Given the description of an element on the screen output the (x, y) to click on. 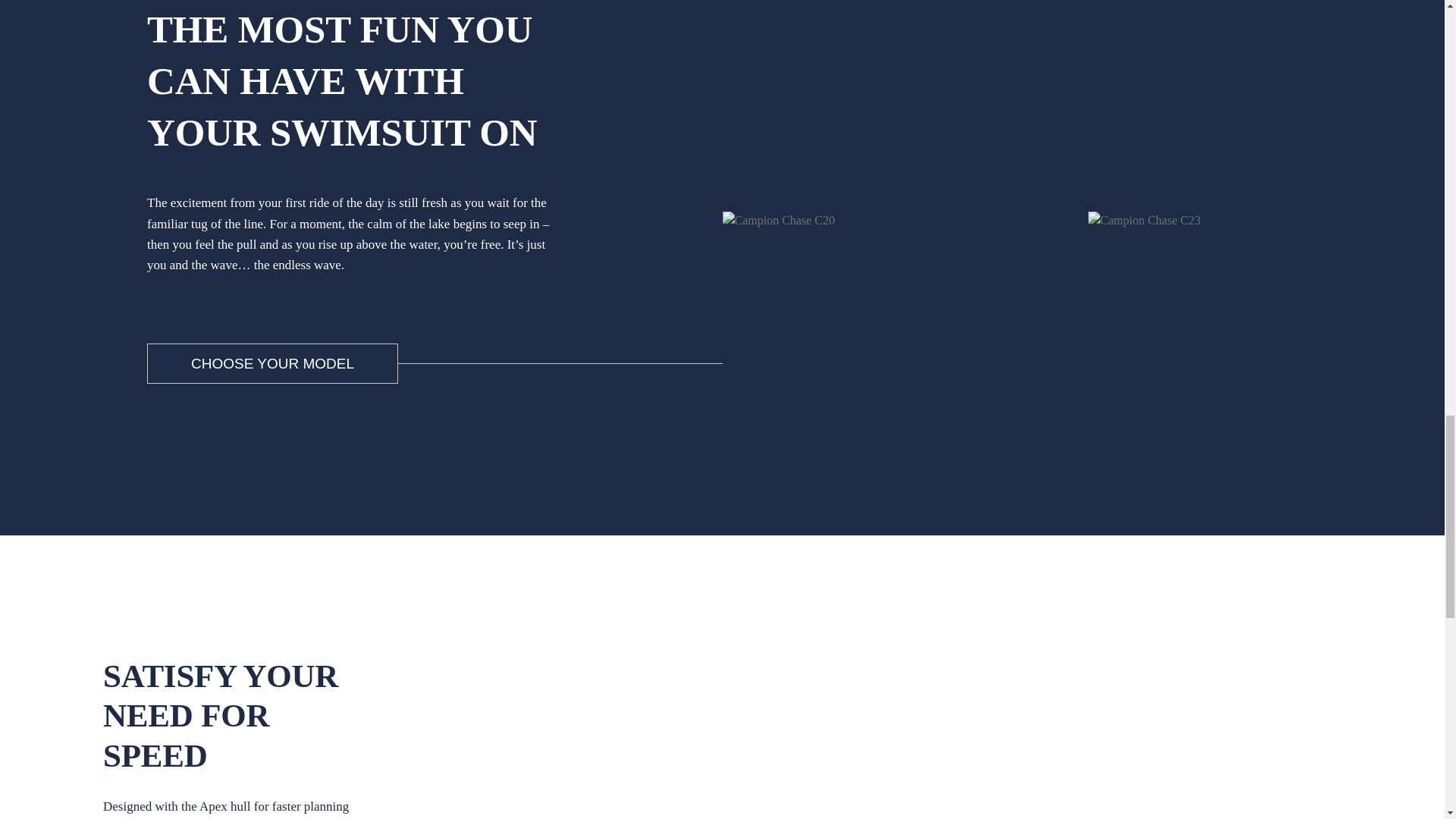
CHOOSE YOUR MODEL (272, 363)
